Given the description of an element on the screen output the (x, y) to click on. 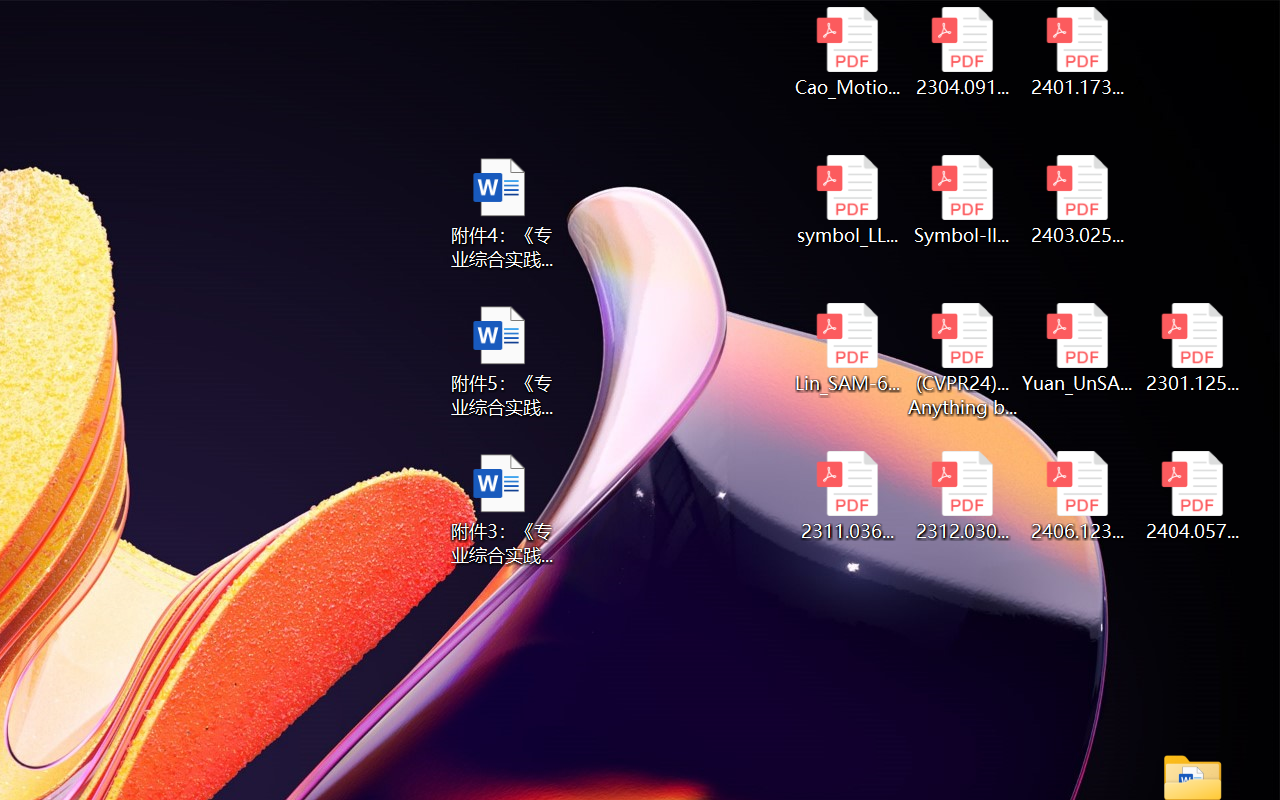
2312.03032v2.pdf (962, 496)
2304.09121v3.pdf (962, 52)
symbol_LLM.pdf (846, 200)
2311.03658v2.pdf (846, 496)
2301.12597v3.pdf (1192, 348)
2404.05719v1.pdf (1192, 496)
Symbol-llm-v2.pdf (962, 200)
2406.12373v2.pdf (1077, 496)
(CVPR24)Matching Anything by Segmenting Anything.pdf (962, 360)
